Given the description of an element on the screen output the (x, y) to click on. 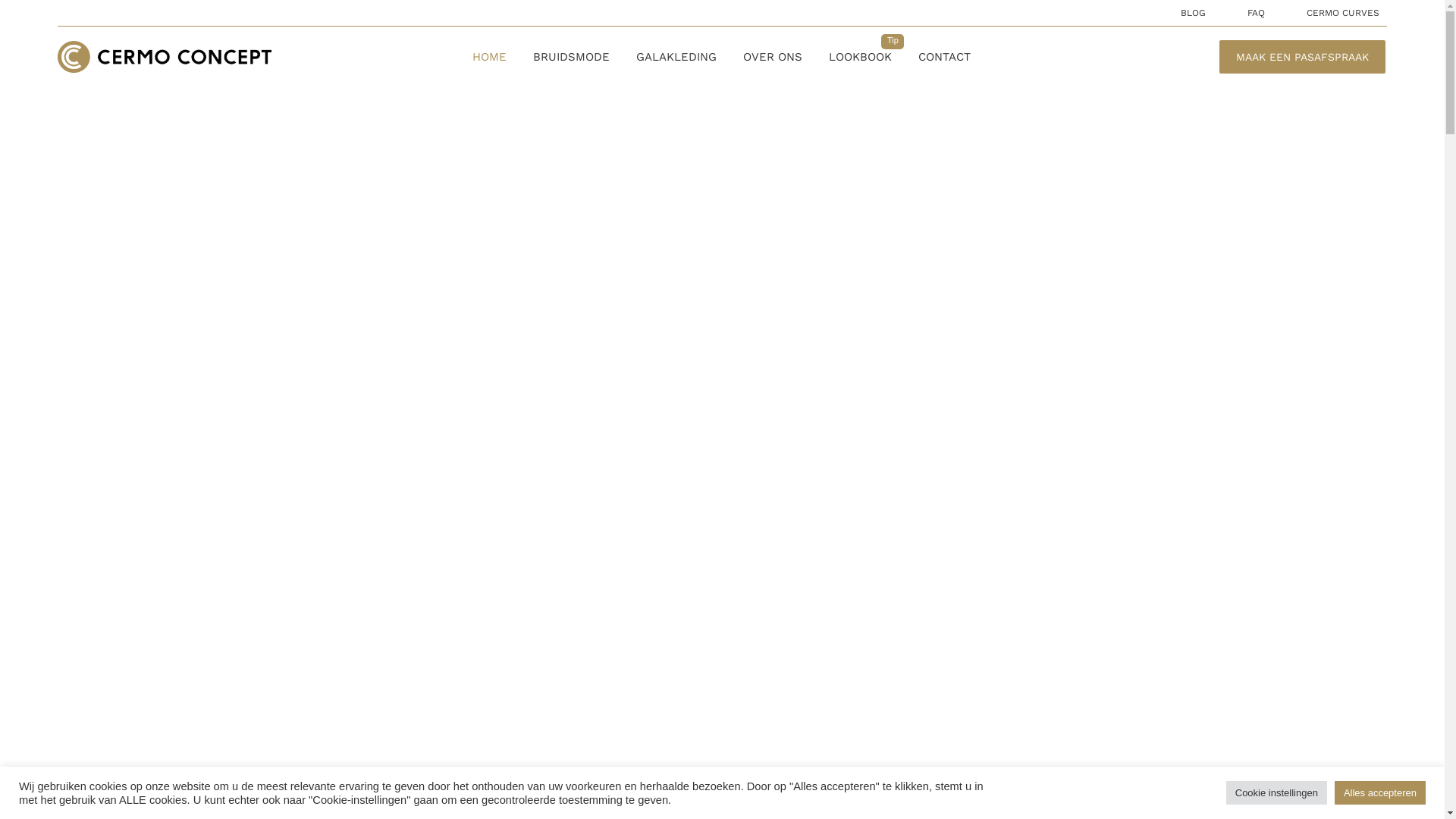
MAAK EEN PASAFSPRAAK Element type: text (1302, 56)
OVER ONS Element type: text (772, 56)
BRUIDSMODE Element type: text (571, 56)
GALAKLEDING Element type: text (676, 56)
BLOG Element type: text (1193, 12)
Cookie instellingen Element type: text (1276, 792)
CONTACT Element type: text (944, 56)
Alles accepteren Element type: text (1379, 792)
FAQ Element type: text (1255, 12)
LOOKBOOK Element type: text (859, 56)
HOME Element type: text (489, 56)
CERMO CURVES Element type: text (1342, 12)
